Given the description of an element on the screen output the (x, y) to click on. 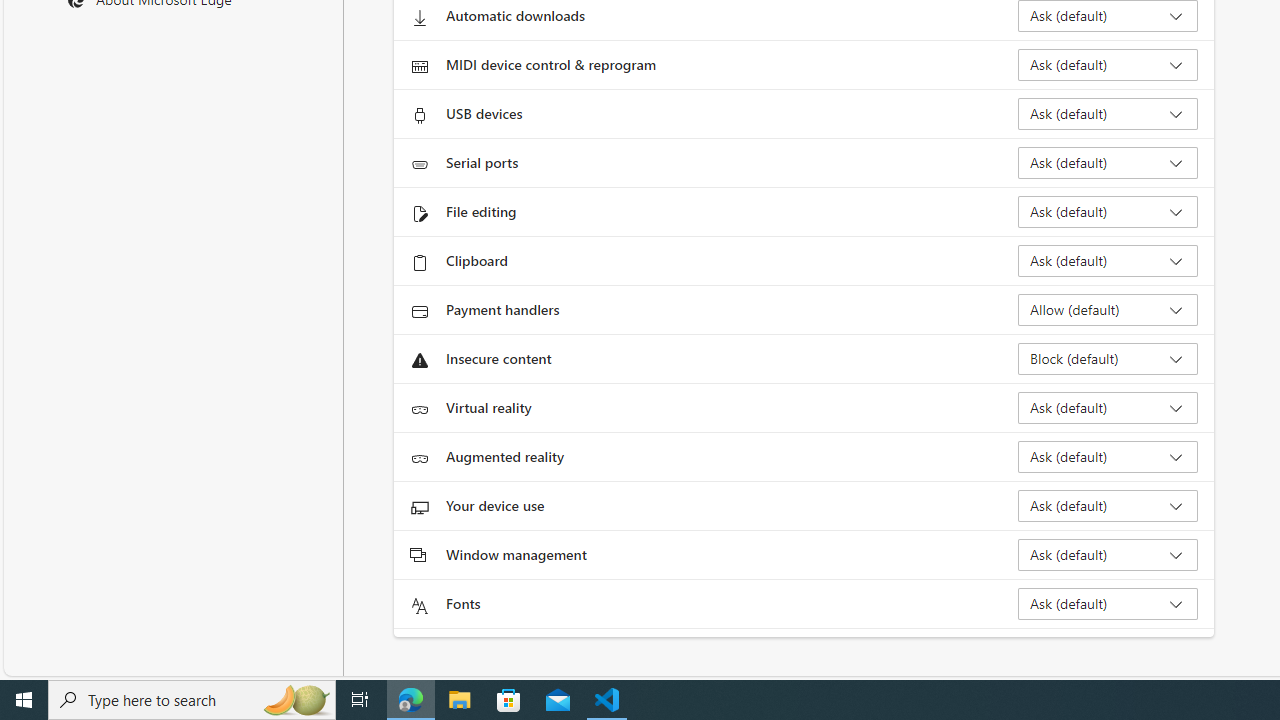
Clipboard Ask (default) (1107, 260)
Payment handlers Allow (default) (1107, 309)
Insecure content Block (default) (1107, 358)
File editing Ask (default) (1107, 211)
Window management Ask (default) (1107, 554)
Fonts Ask (default) (1107, 603)
MIDI device control & reprogram Ask (default) (1107, 64)
USB devices Ask (default) (1107, 113)
Automatic downloads Ask (default) (1107, 15)
Serial ports Ask (default) (1107, 162)
Augmented reality Ask (default) (1107, 456)
Your device use Ask (default) (1107, 506)
Virtual reality Ask (default) (1107, 407)
